Given the description of an element on the screen output the (x, y) to click on. 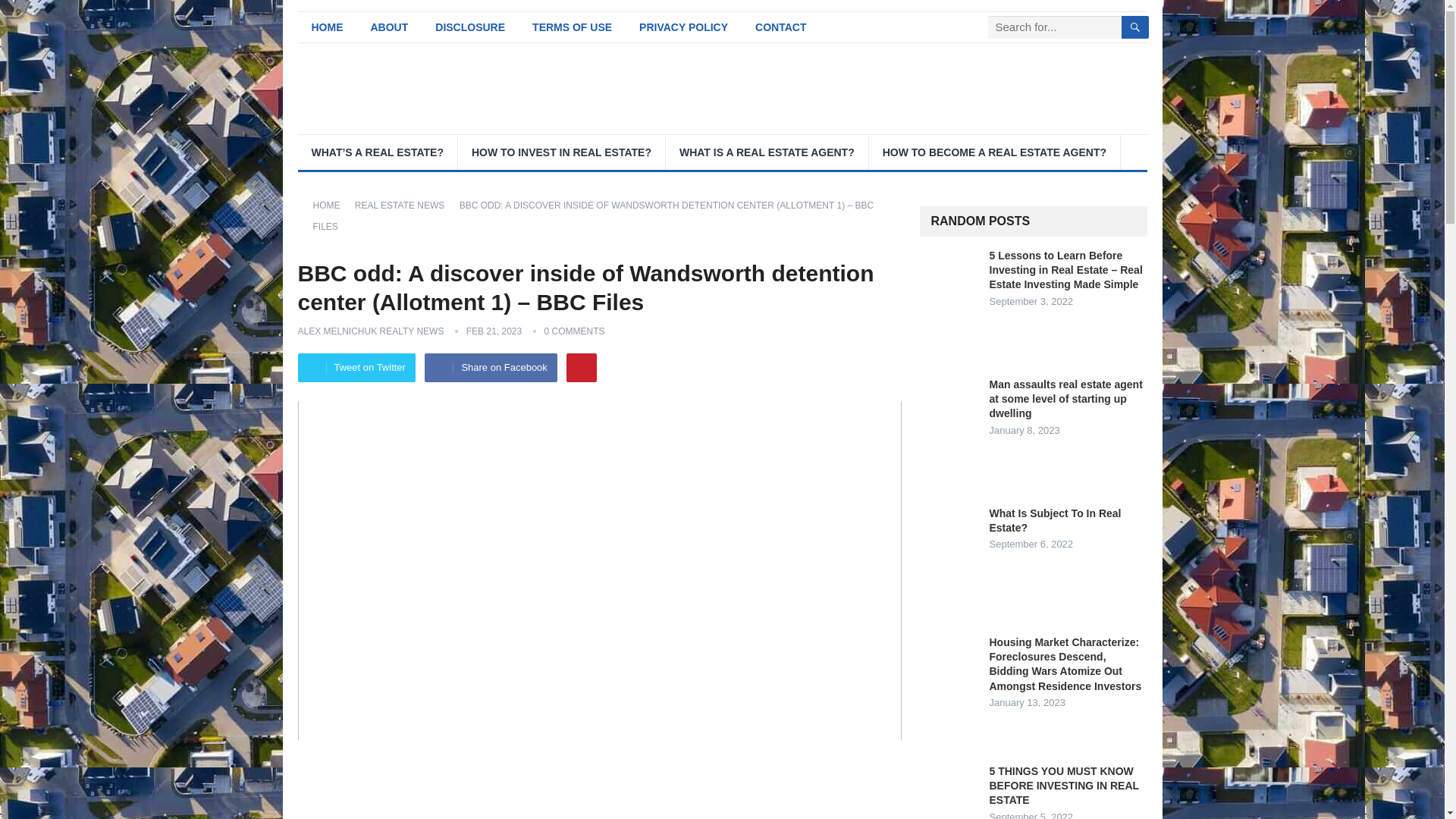
ALEX MELNICHUK REALTY NEWS (370, 330)
View all posts in Real Estate News (404, 204)
TERMS OF USE (572, 27)
HOW TO BECOME A REAL ESTATE AGENT? (994, 152)
HOME (326, 27)
HOW TO INVEST IN REAL ESTATE? (561, 152)
REAL ESTATE NEWS (404, 204)
WHAT IS A REAL ESTATE AGENT? (766, 152)
PRIVACY POLICY (683, 27)
DISCLOSURE (470, 27)
HOME (331, 204)
0 COMMENTS (574, 330)
CONTACT (780, 27)
Share on Facebook (490, 367)
Posts by Alex Melnichuk Realty News (370, 330)
